Given the description of an element on the screen output the (x, y) to click on. 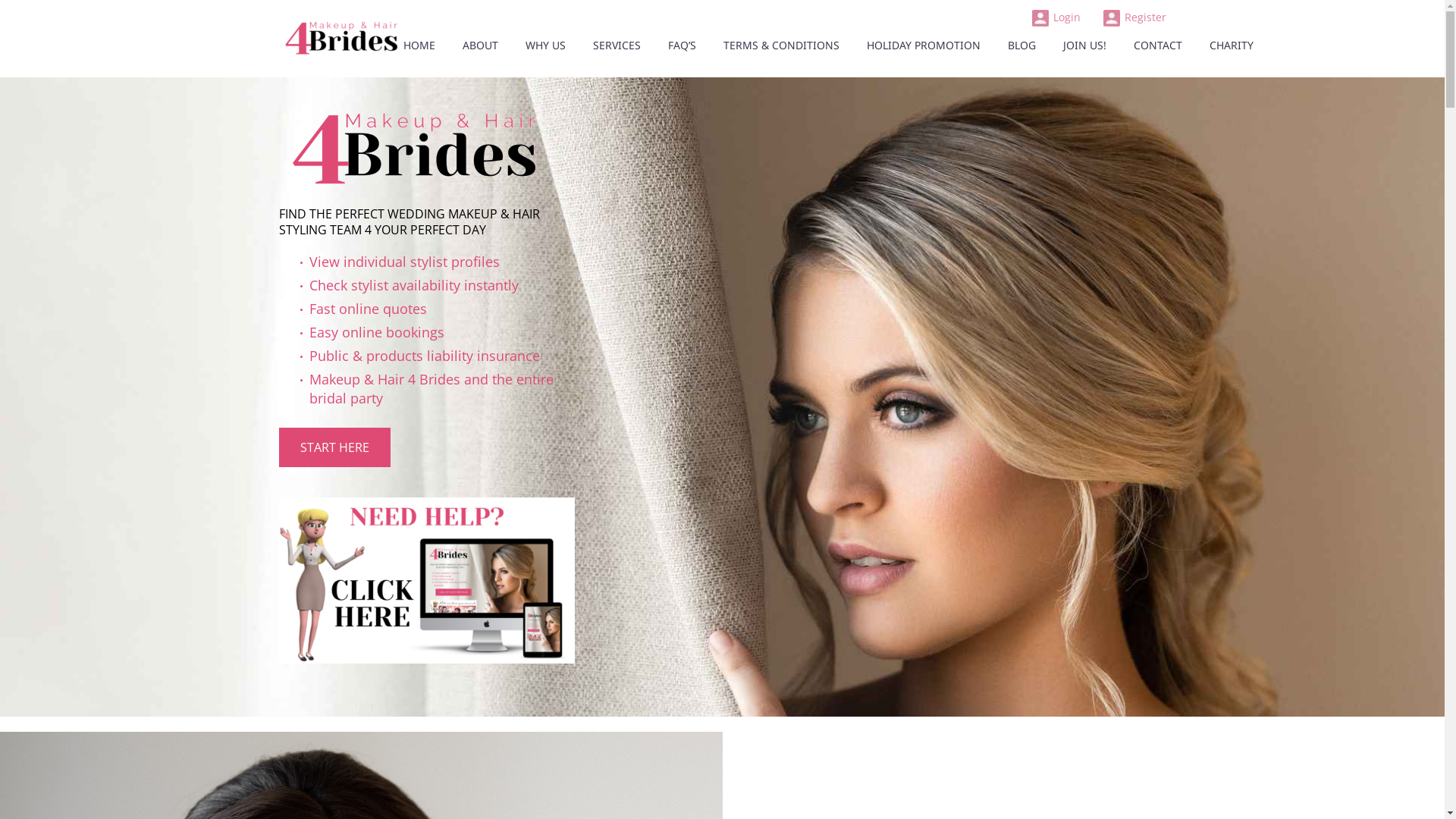
Register Element type: text (1133, 17)
SERVICES Element type: text (615, 44)
TERMS & CONDITIONS Element type: text (780, 44)
CONTACT Element type: text (1157, 44)
START HERE Element type: text (334, 447)
4 Brides video youtube thumbnail (6) Element type: hover (426, 580)
BLOG Element type: text (1021, 44)
ABOUT Element type: text (479, 44)
JOIN US! Element type: text (1084, 44)
WHY US Element type: text (545, 44)
Login Element type: text (1055, 17)
CHARITY Element type: text (1231, 44)
HOME Element type: text (418, 44)
HOLIDAY PROMOTION Element type: text (923, 44)
